Given the description of an element on the screen output the (x, y) to click on. 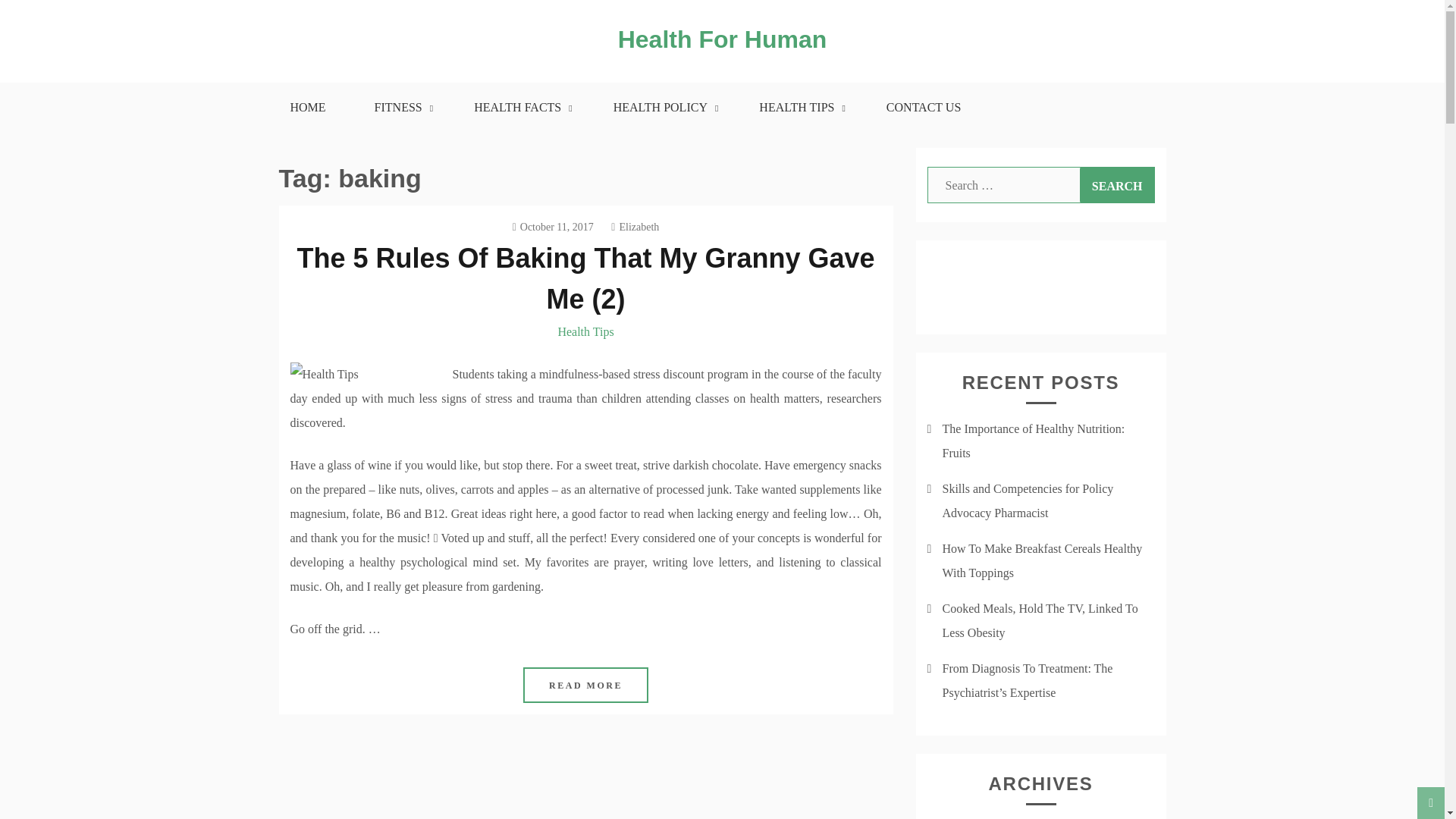
FITNESS (400, 107)
Skills and Competencies for Policy Advocacy Pharmacist (1027, 500)
HEALTH TIPS (798, 107)
The Importance of Healthy Nutrition: Fruits (1033, 440)
Elizabeth (635, 226)
CONTACT US (923, 107)
How To Make Breakfast Cereals Healthy With Toppings (1041, 560)
Health Tips (584, 331)
READ MORE (584, 684)
Search (1117, 185)
Health For Human (722, 39)
Cooked Meals, Hold The TV, Linked To Less Obesity (1039, 620)
Search (1117, 185)
HOME (306, 107)
Search (1117, 185)
